Given the description of an element on the screen output the (x, y) to click on. 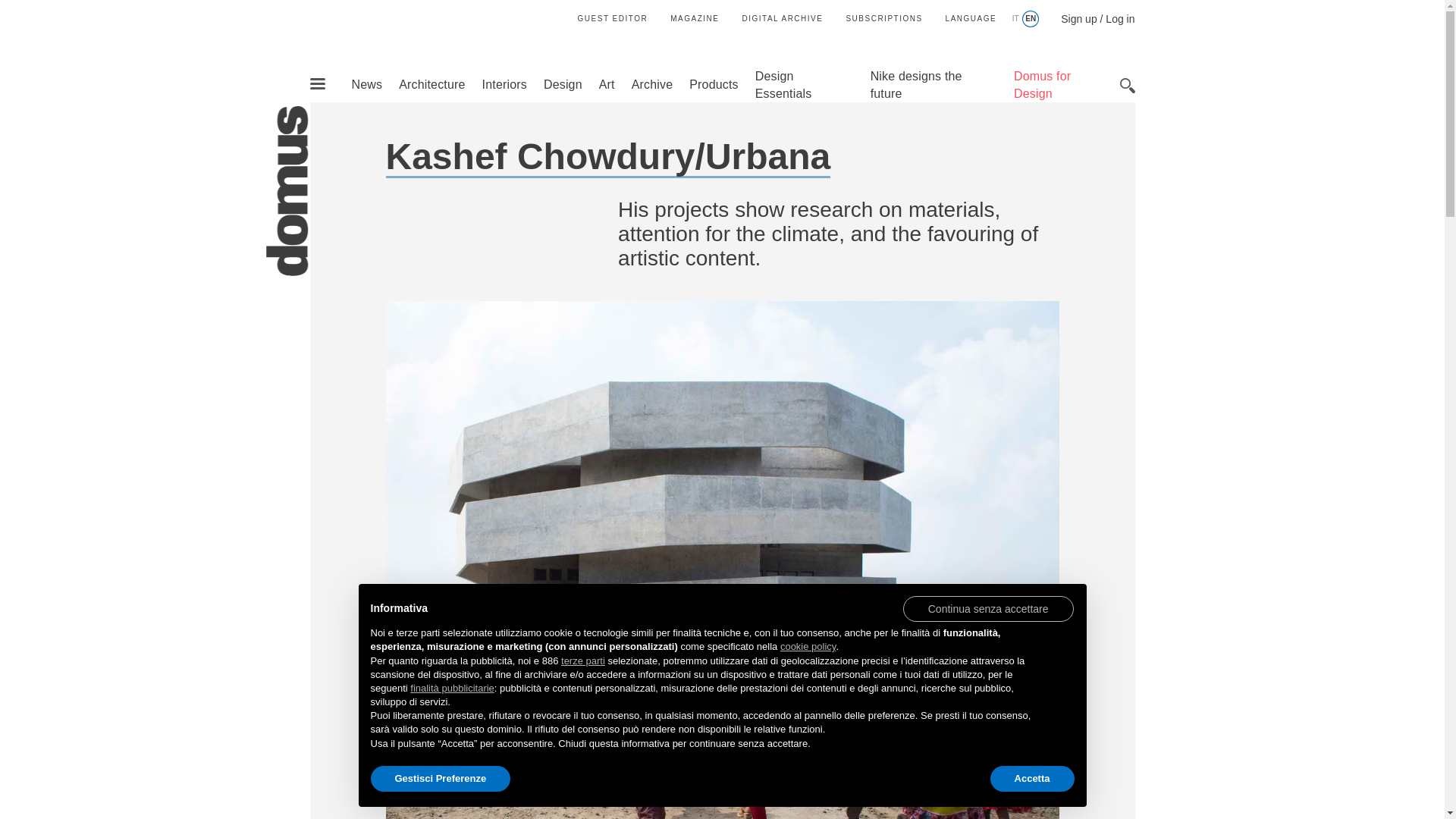
Log in (1119, 19)
Design Essentials (783, 84)
Design (562, 83)
MAGAZINE (694, 18)
EN (1030, 18)
Sign up (1078, 19)
Products (713, 83)
Interiors (504, 83)
SUBSCRIPTIONS (883, 18)
DIGITAL ARCHIVE (781, 18)
GUEST EDITOR (612, 18)
Architecture (431, 83)
Domus for Design (1041, 84)
News (365, 83)
Art (606, 83)
